Given the description of an element on the screen output the (x, y) to click on. 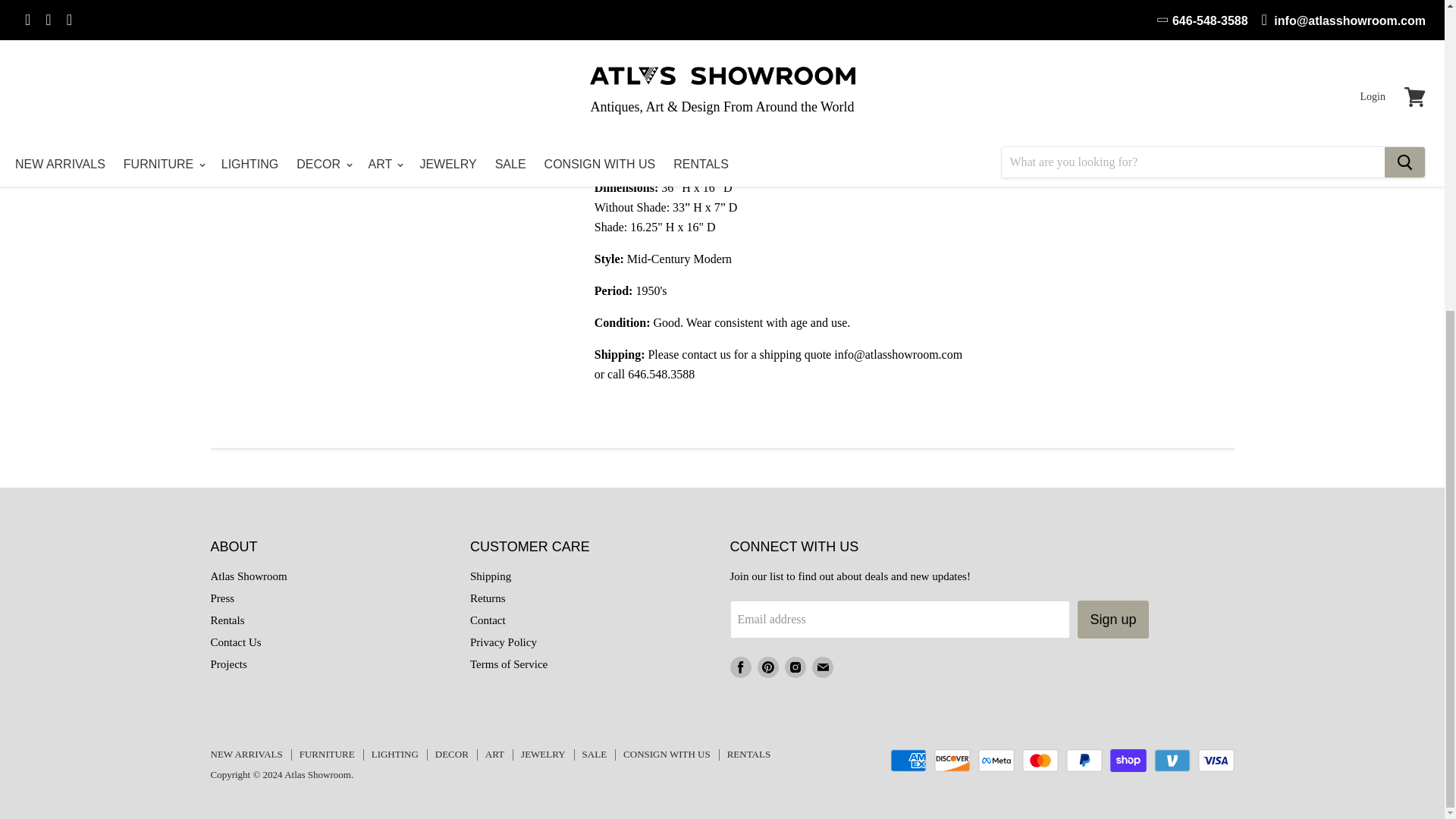
Instagram (794, 666)
American Express (907, 760)
Pinterest (767, 666)
Mastercard (1040, 760)
E-mail (821, 666)
Discover (952, 760)
Facebook (740, 666)
Meta Pay (996, 760)
